Given the description of an element on the screen output the (x, y) to click on. 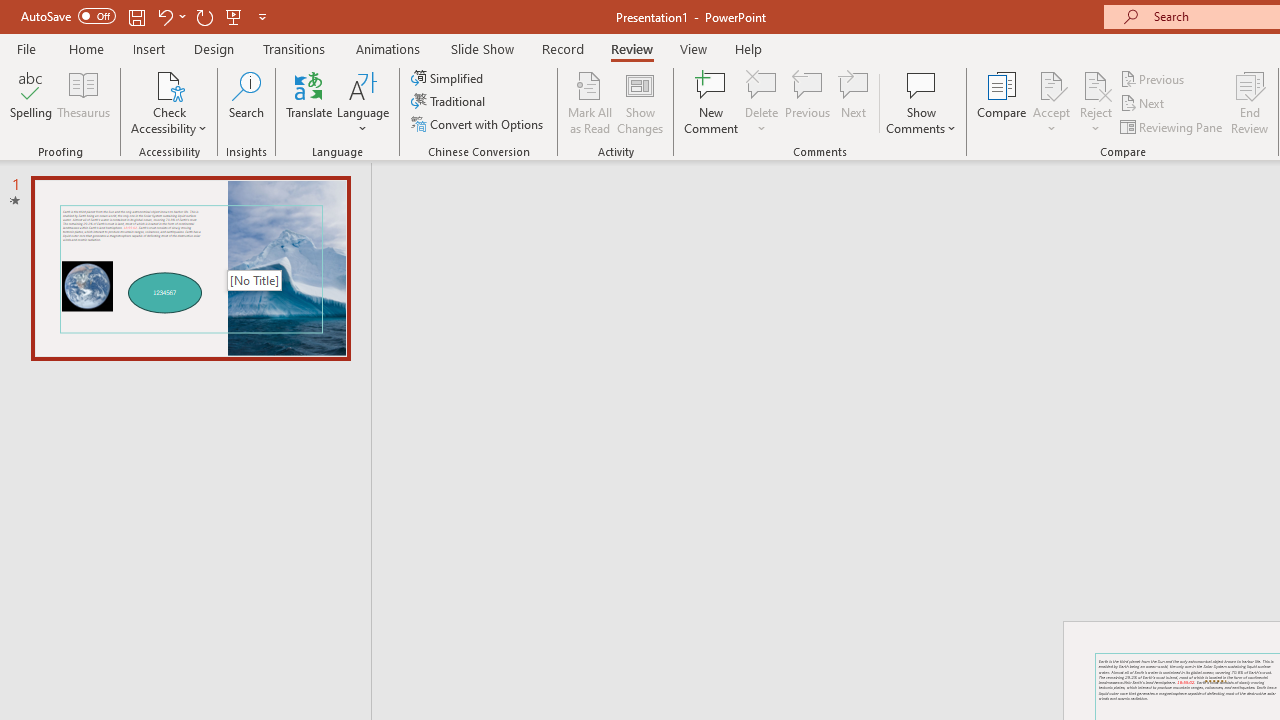
Reject (1096, 102)
